Given the description of an element on the screen output the (x, y) to click on. 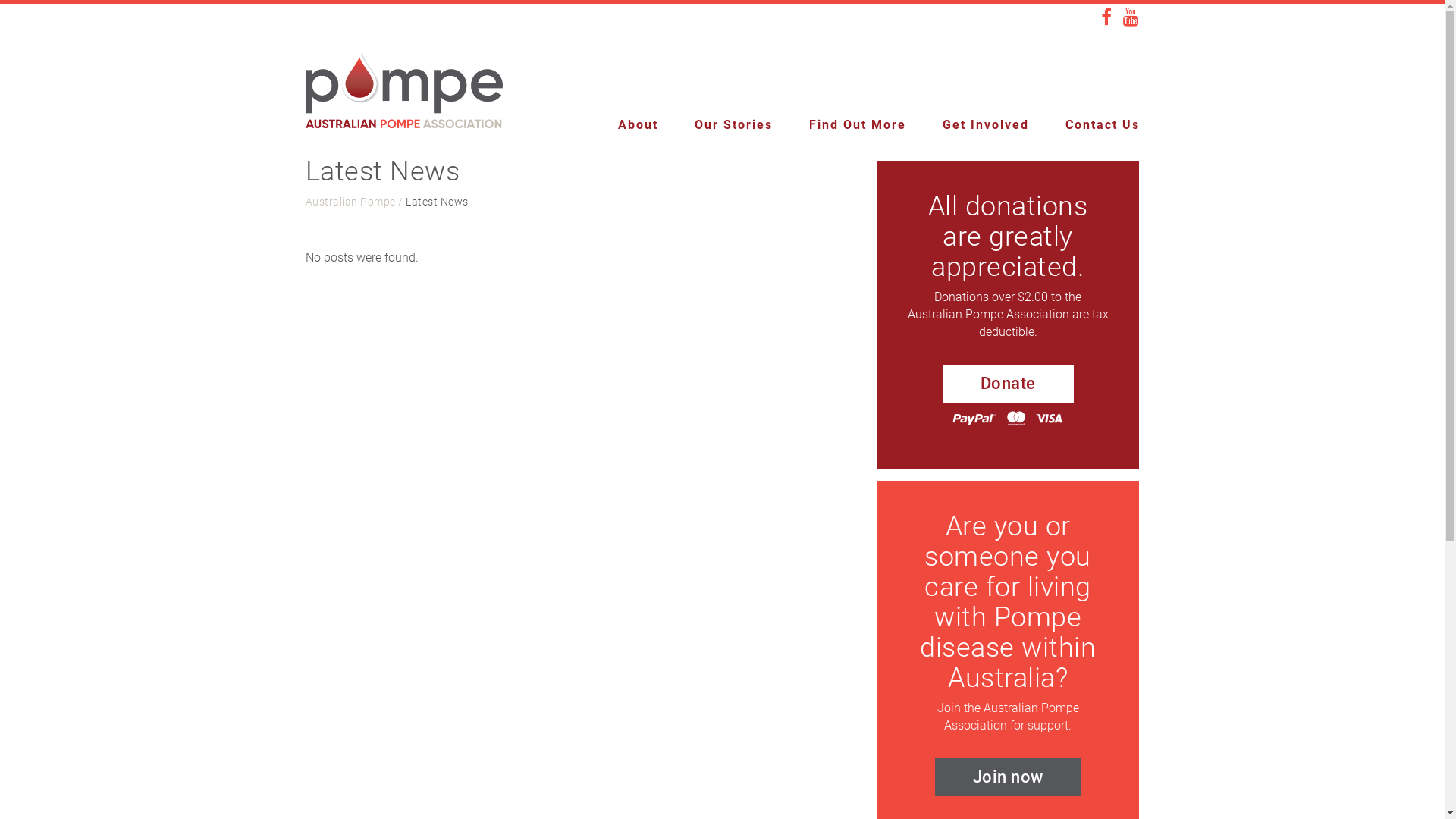
Australian Pompe Element type: text (349, 201)
Donate Element type: text (1007, 383)
Get Involved Element type: text (966, 125)
Contact Us Element type: text (1083, 125)
Join now Element type: text (1008, 777)
Our Stories Element type: text (715, 125)
About Element type: text (618, 125)
Find Out More Element type: text (838, 125)
